Given the description of an element on the screen output the (x, y) to click on. 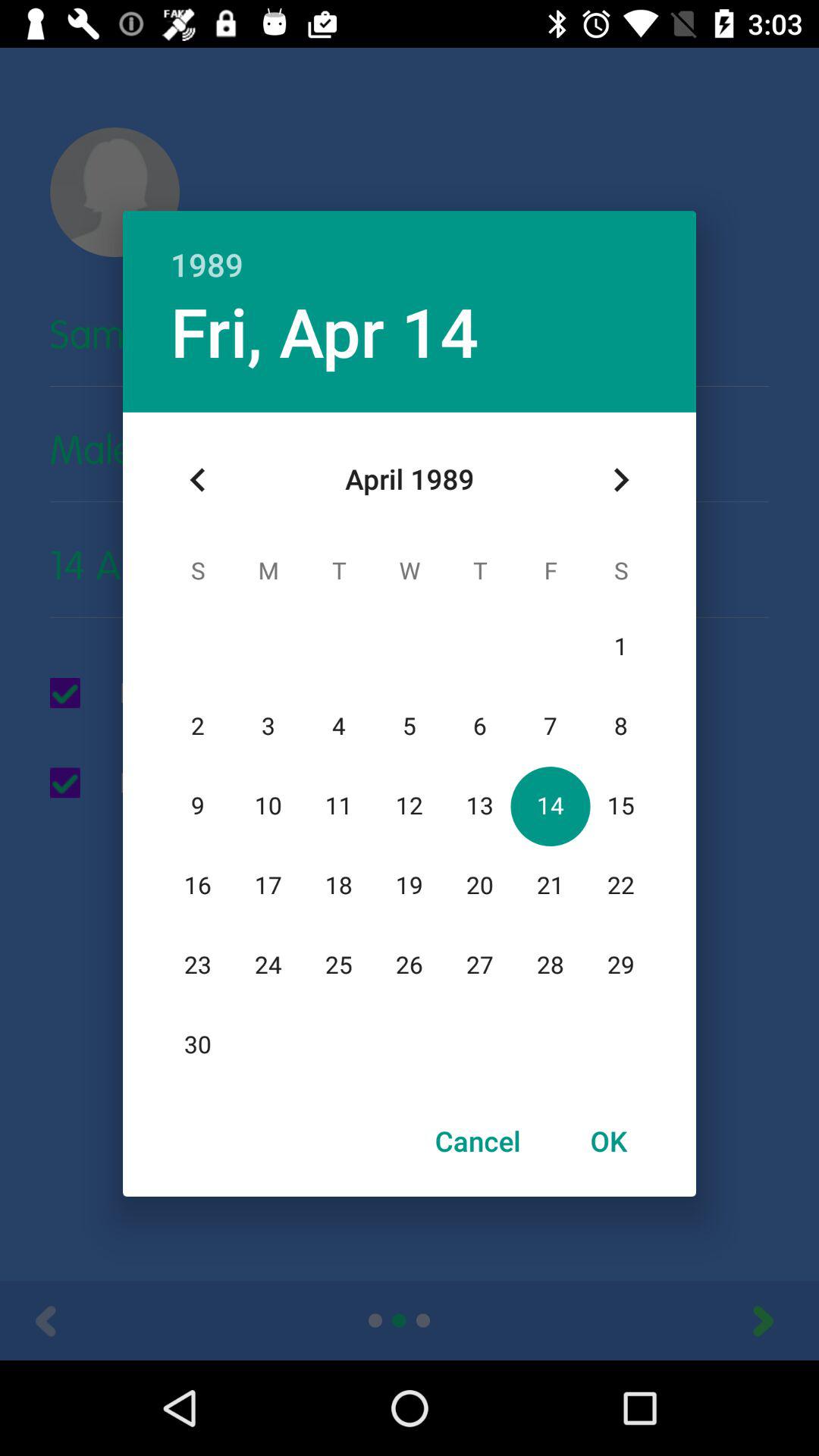
turn on 1989 item (409, 248)
